Given the description of an element on the screen output the (x, y) to click on. 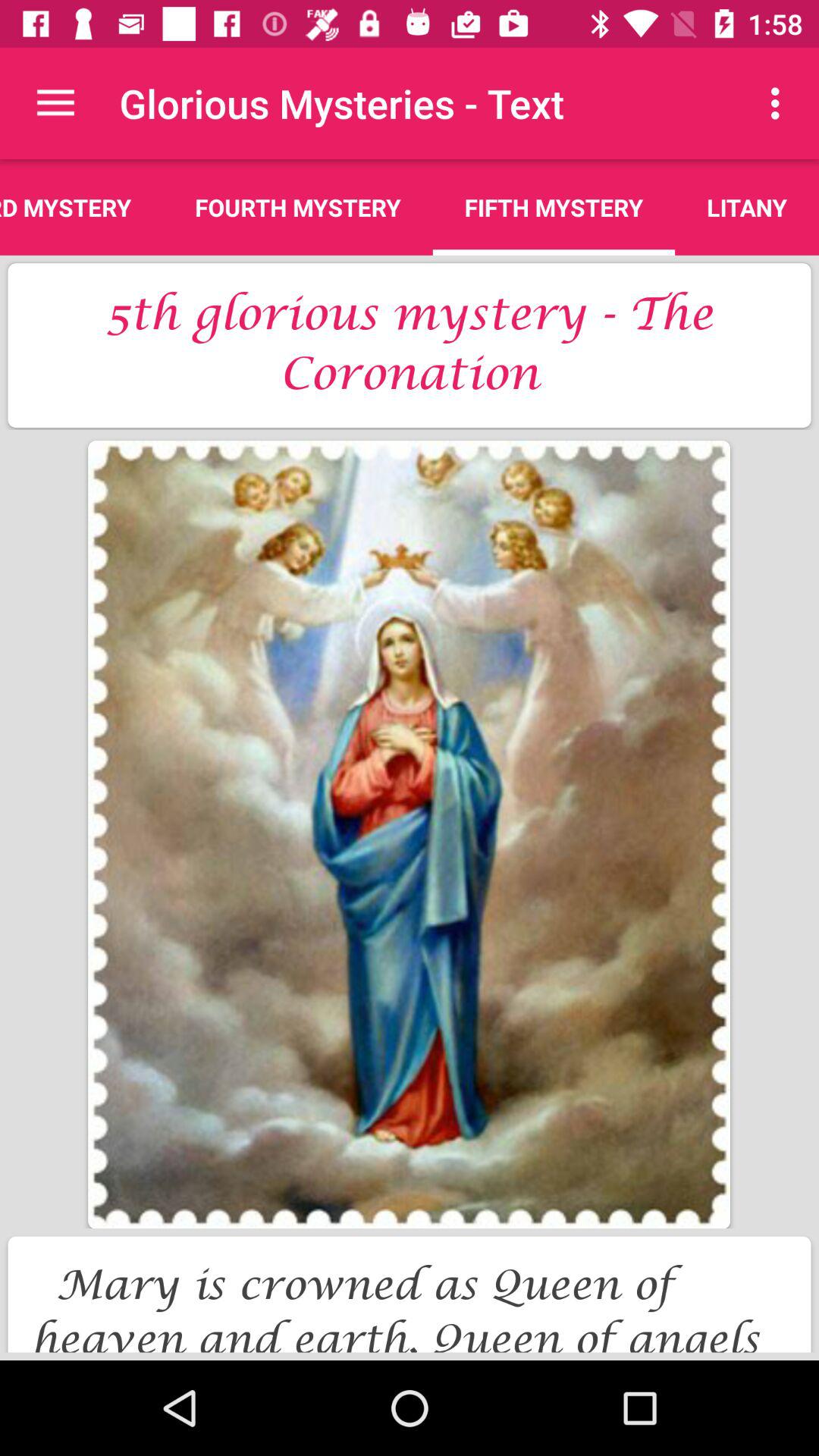
press the icon next to fifth mystery item (297, 207)
